Given the description of an element on the screen output the (x, y) to click on. 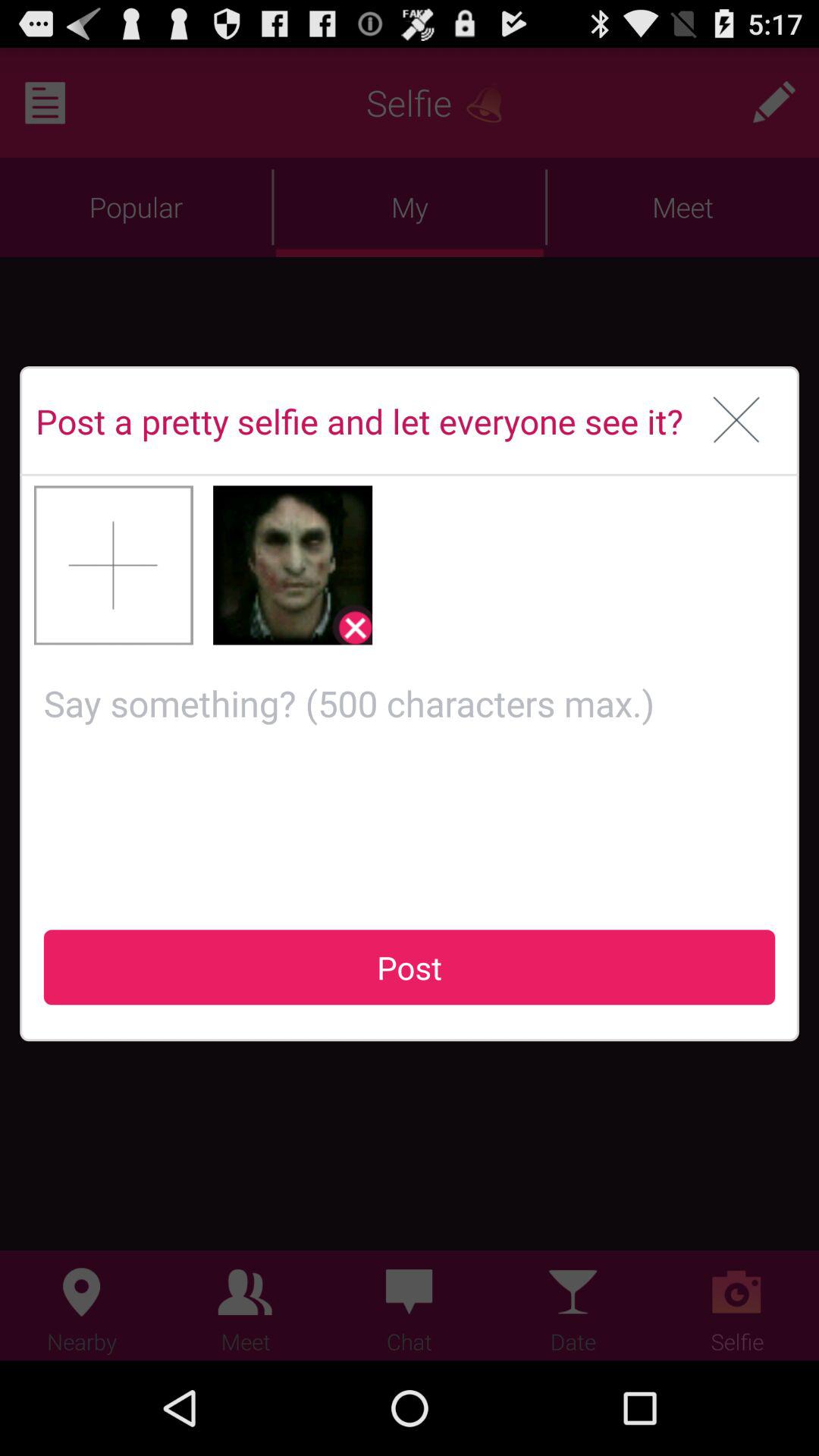
add picture (113, 564)
